Given the description of an element on the screen output the (x, y) to click on. 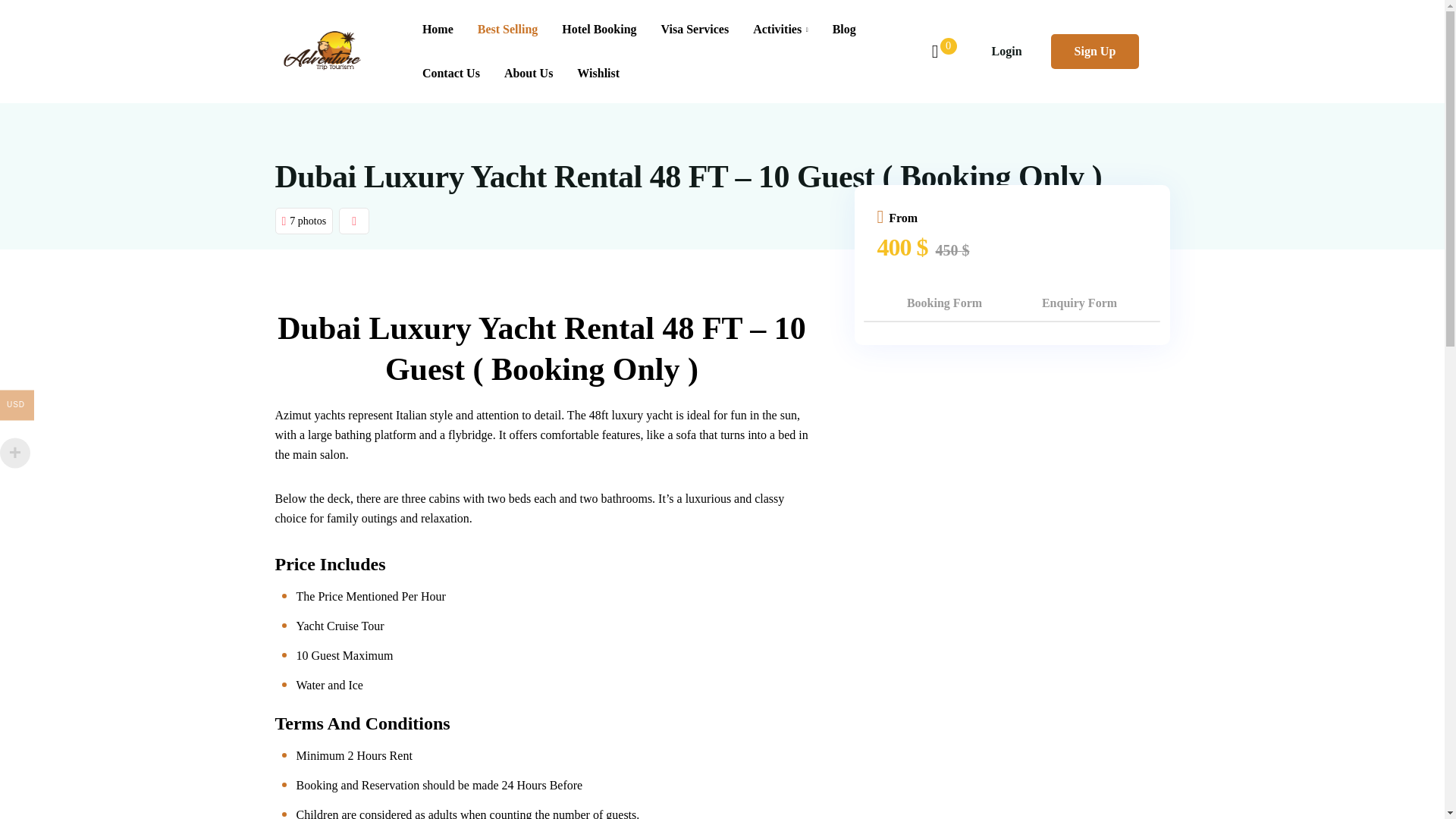
Contact Us (451, 73)
Home (437, 29)
About Us (528, 73)
Login (1006, 50)
Hotel Booking (598, 29)
Activities (781, 29)
Sign Up (1095, 50)
Blog (844, 29)
Visa Services (695, 29)
Best Selling (507, 29)
